Given the description of an element on the screen output the (x, y) to click on. 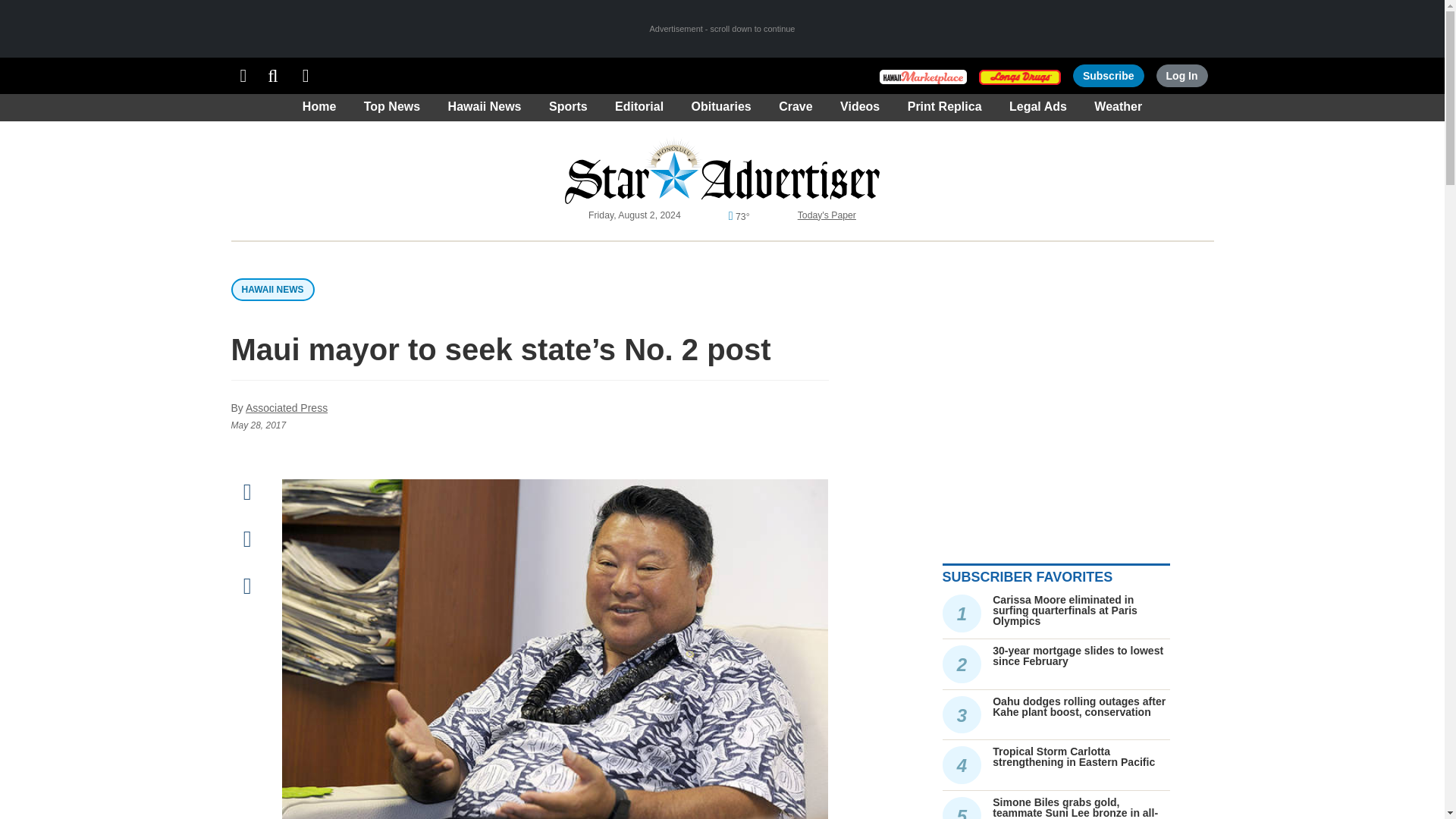
30-year mortgage slides to lowest since February (1077, 655)
Subscribe (1108, 75)
Print Replica (306, 75)
Honolulu Star-Advertiser (721, 169)
Sections (243, 75)
See more stories by Associated Press (286, 408)
Search (272, 75)
Log In (1182, 75)
